Given the description of an element on the screen output the (x, y) to click on. 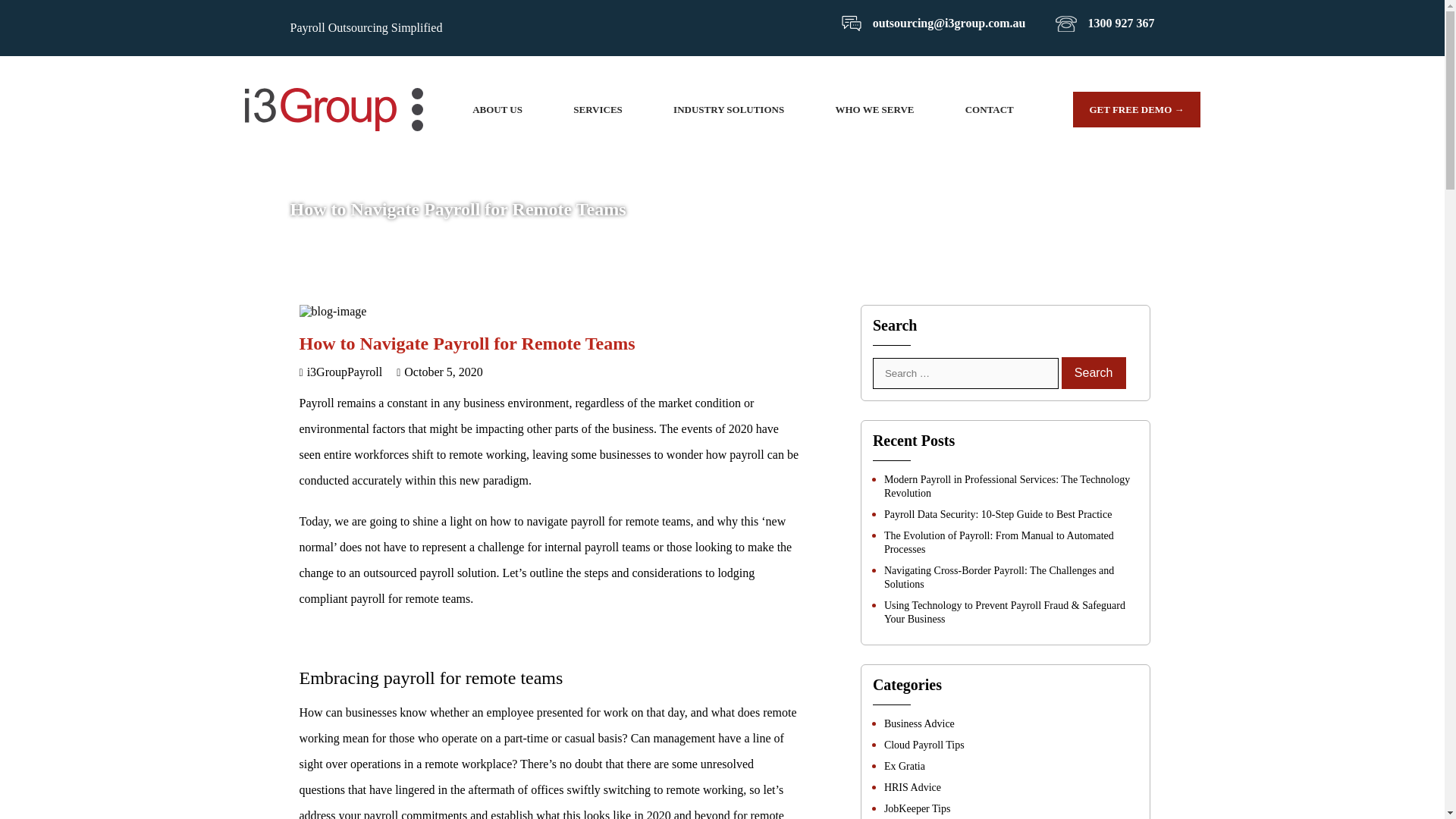
1300 927 367 (1104, 21)
WHO WE SERVE (874, 109)
INDUSTRY SOLUTIONS (728, 109)
